Given the description of an element on the screen output the (x, y) to click on. 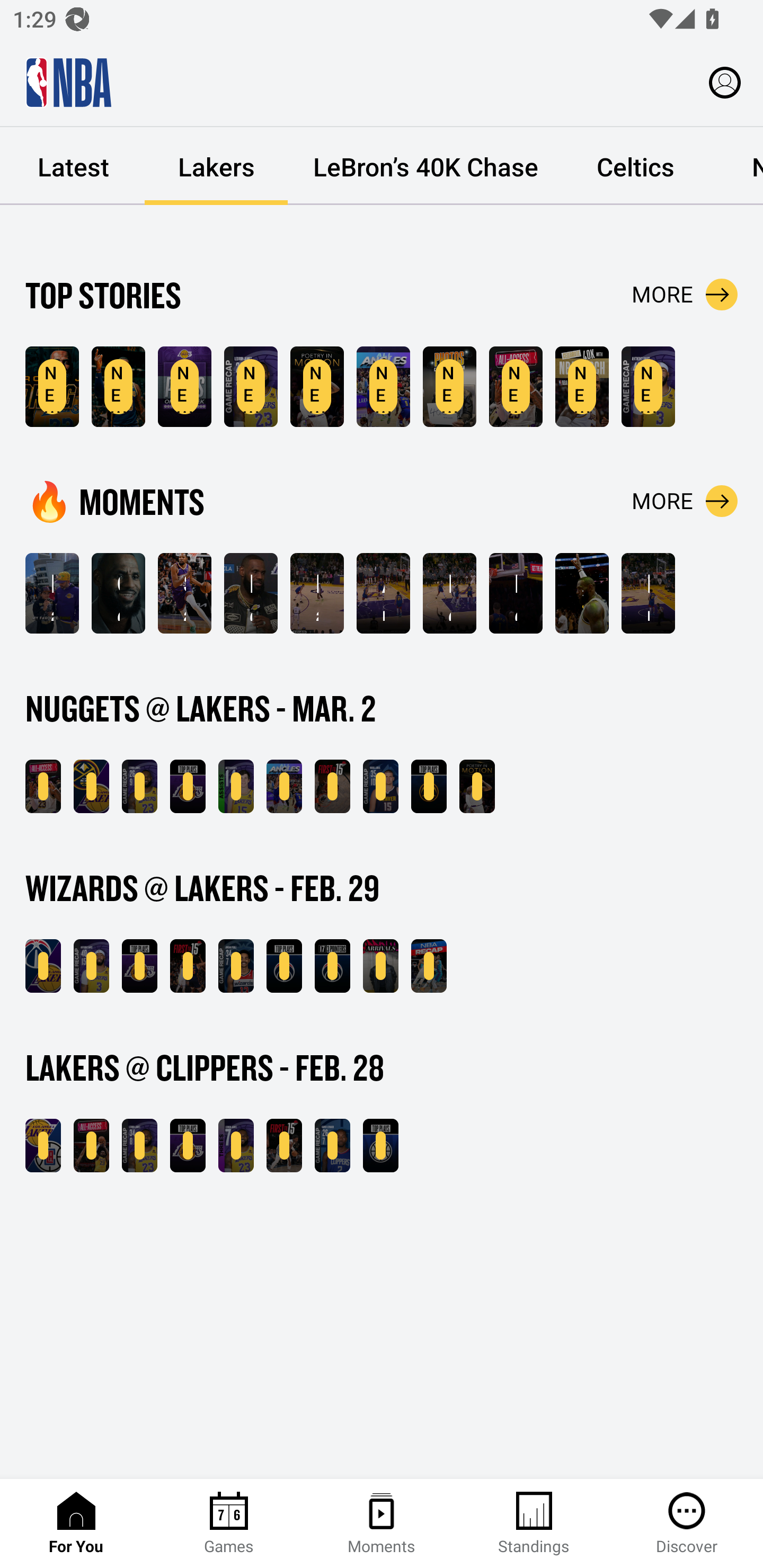
Profile (724, 81)
Latest (72, 166)
LeBron’s 40K Chase (425, 166)
Celtics (634, 166)
MORE (684, 294)
NEW LeBron Tracker: Lakers star reaches 40,000 (51, 386)
NEW Milestone Baskets From LeBron's Career (117, 386)
NEW LAL's Top Plays of Week 19 (184, 386)
NEW Highlights From LeBron James' 26-Point Game (250, 386)
NEW LeBron's Historic Night In Slo-Mo 🎥 (317, 386)
All Angles Of LeBron's Historic Shot 👀 NEW (383, 386)
Scenes From LeBron's 40K Night 📸 NEW (449, 386)
Inside LeBron's 40K Milestone On ABC 🎥 NEW (515, 386)
Shop LeBron Merch Now 👑🛒 NEW (581, 386)
Highlights From Anthony Davis' 40-Point Game NEW (648, 386)
MORE (684, 500)
Saturday's Top Plays In 30 Seconds ⏱ (184, 593)
Radio Call Of The Lebron Bucket For 40K 📻 (317, 593)
Austin Reaves with the assist (383, 593)
LeBron James hits from way downtown (449, 593)
LeBron James with the hoop & harm (515, 593)
👏👑🙌 (581, 593)
Dunk by Jaxson Hayes (648, 593)
NEW Inside LeBron's 40K Milestone On ABC 🎥 (43, 785)
NEW DEN 124, LAL 114 - Mar 2 (91, 785)
NEW Highlights From LeBron James' 26-Point Game (139, 785)
NEW LAL's Top Plays from DEN vs. LAL (187, 785)
NEW Highlights From Austin Reaves' 14-Assist Game (236, 785)
All Angles Of LeBron's Historic Shot 👀 NEW (284, 785)
First To 15 Mar. 2nd NEW (332, 785)
Highlights From Nikola Jokic's 35-Point Game NEW (380, 785)
DEN's Top Plays from DEN vs. LAL NEW (428, 785)
LeBron's Historic Night In Slo-Mo 🎥 NEW (477, 785)
NEW LAL 134, WAS 131 - Feb 29 (43, 965)
NEW Highlights From Anthony Davis' 40-Point Game (91, 965)
NEW LAL's Top Plays from WAS vs. LAL (139, 965)
NEW First To 15: Feb. 29th (187, 965)
NEW Highlights From Jordan Poole's 34-Point Game (236, 965)
WAS' Top Plays from WAS vs. LAL NEW (284, 965)
All 3's from WAS' 17 3-Pointer Night NEW (332, 965)
Thursday Night's Arrivals 🔥 NEW (380, 965)
Thursday's Recap NEW (428, 965)
NEW LAL 116, LAC 112 - Feb 28 (43, 1145)
NEW LeBron Takes Over In The Battle Of LA (91, 1145)
NEW Highlights From LeBron James's 34-Point Game (139, 1145)
NEW LAL's Top Plays from LAL vs. LAC (187, 1145)
First To 15: Feb. 28th NEW (284, 1145)
Highlights From Kawhi Leonard's 26-Point Game NEW (332, 1145)
LAC's Top Plays from LAL vs. LAC NEW (380, 1145)
Games (228, 1523)
Moments (381, 1523)
Standings (533, 1523)
Discover (686, 1523)
